Given the description of an element on the screen output the (x, y) to click on. 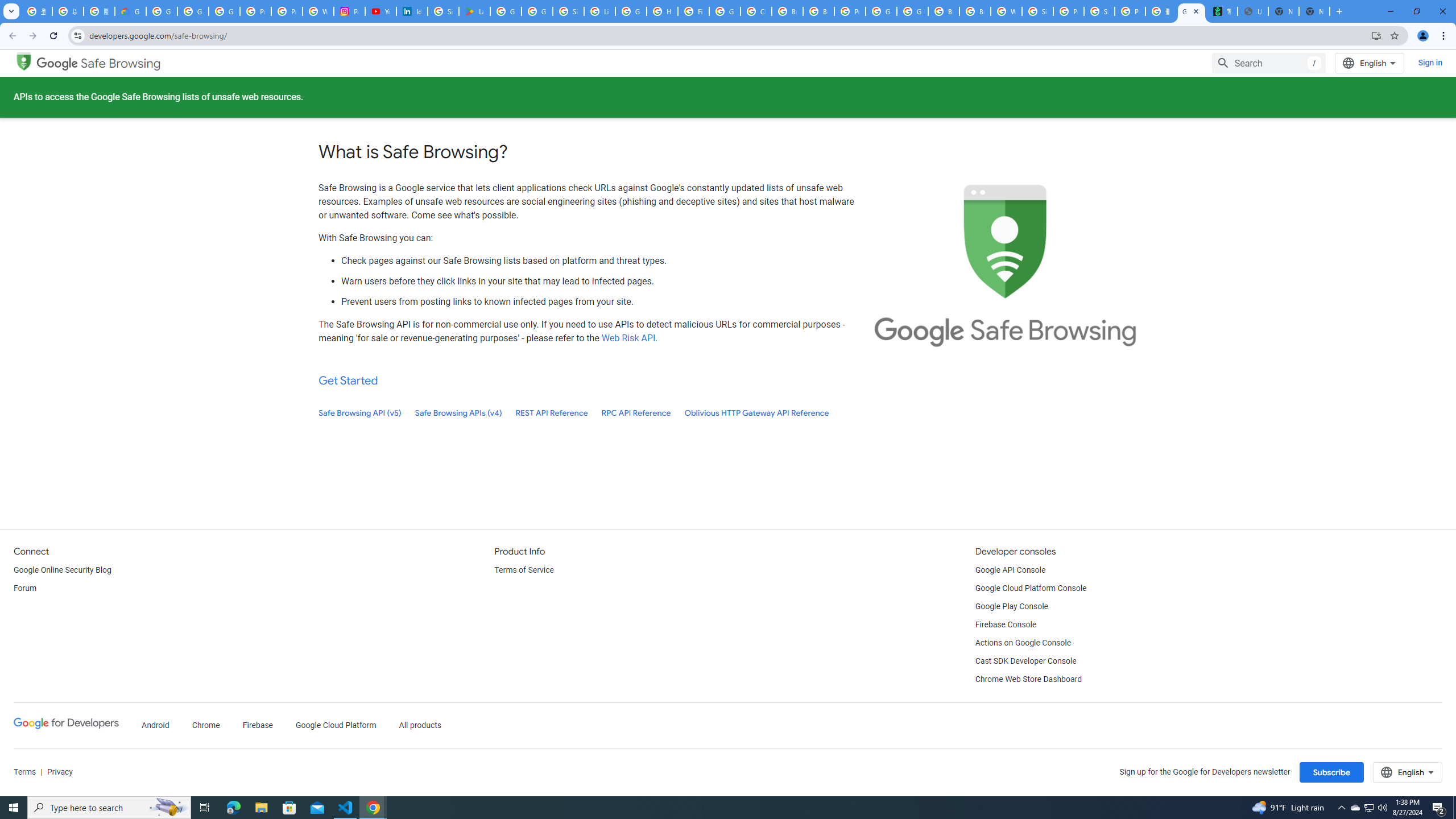
Sign in - Google Accounts (1037, 11)
Sign in - Google Accounts (568, 11)
New Tab (1314, 11)
All products (420, 725)
Subscribe (1331, 772)
Sign in - Google Accounts (443, 11)
Google Cloud Platform (336, 725)
